Given the description of an element on the screen output the (x, y) to click on. 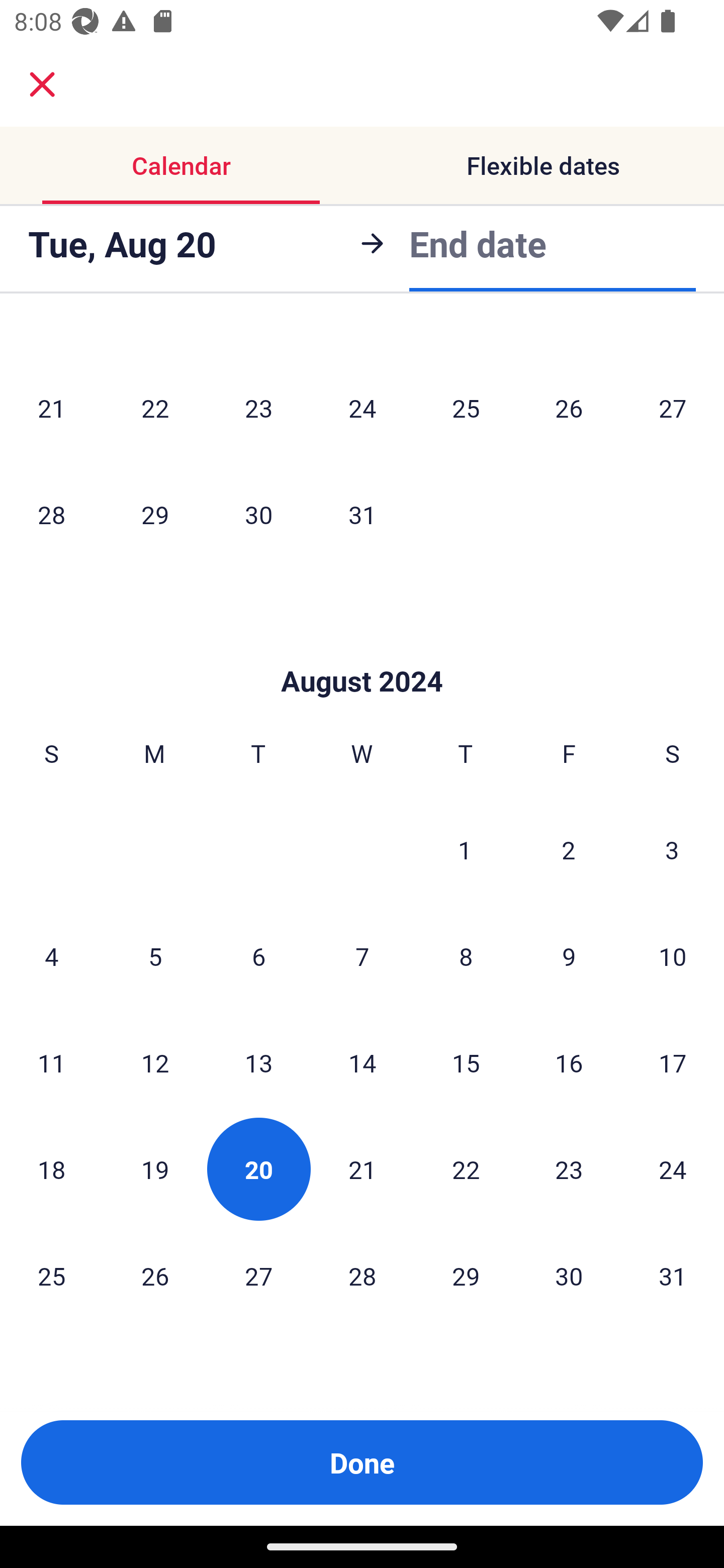
close. (42, 84)
Flexible dates (542, 164)
End date (477, 240)
21 Sunday, July 21, 2024 (51, 407)
22 Monday, July 22, 2024 (155, 407)
23 Tuesday, July 23, 2024 (258, 407)
24 Wednesday, July 24, 2024 (362, 407)
25 Thursday, July 25, 2024 (465, 407)
26 Friday, July 26, 2024 (569, 407)
27 Saturday, July 27, 2024 (672, 407)
28 Sunday, July 28, 2024 (51, 514)
29 Monday, July 29, 2024 (155, 514)
30 Tuesday, July 30, 2024 (258, 514)
31 Wednesday, July 31, 2024 (362, 514)
Skip to Done (362, 650)
1 Thursday, August 1, 2024 (464, 849)
2 Friday, August 2, 2024 (568, 849)
3 Saturday, August 3, 2024 (672, 849)
4 Sunday, August 4, 2024 (51, 956)
5 Monday, August 5, 2024 (155, 956)
